Given the description of an element on the screen output the (x, y) to click on. 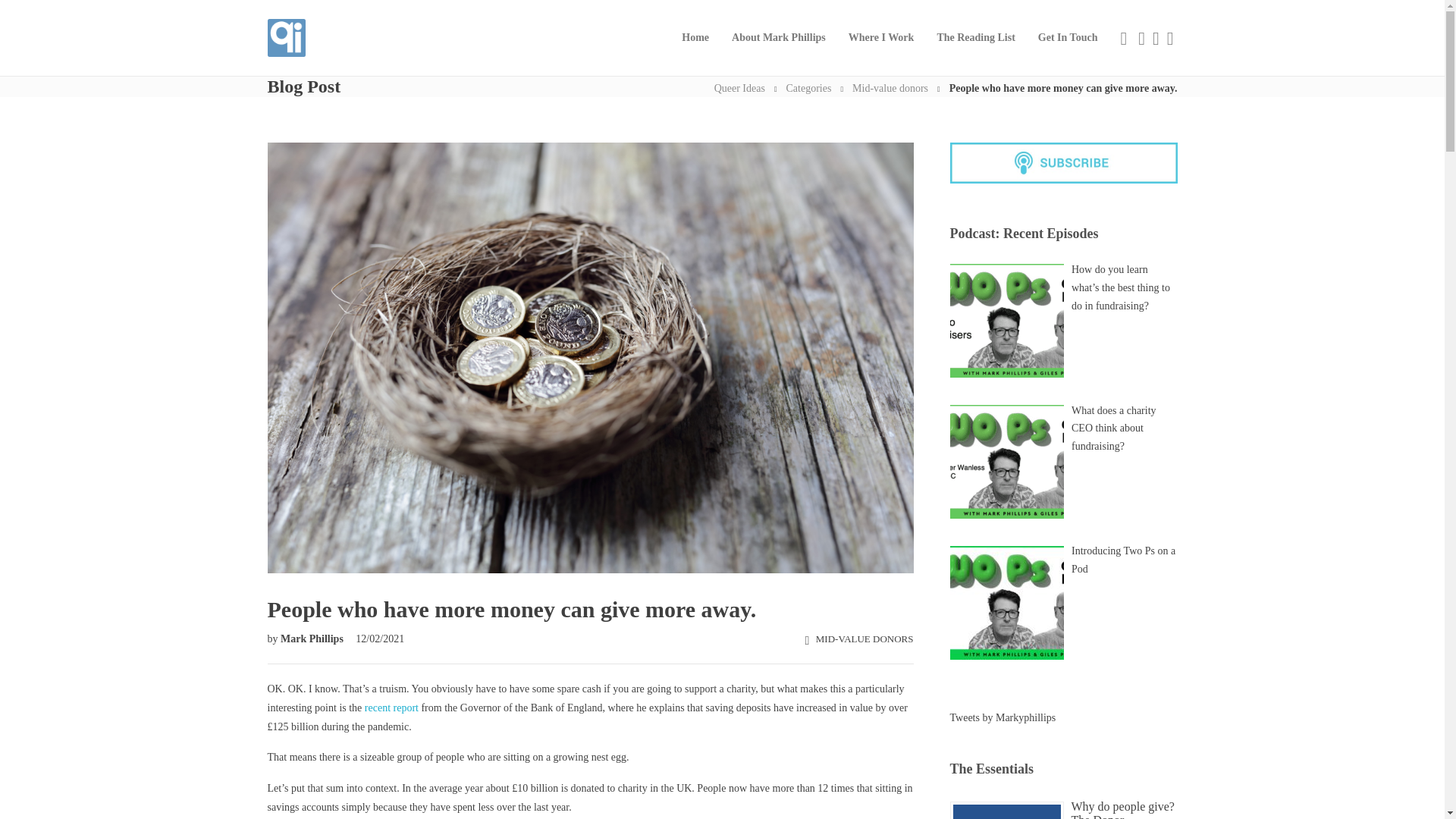
MID-VALUE DONORS (864, 638)
Mid-value donors (889, 88)
recent report (392, 707)
People who have more money can give more away. (1063, 88)
Queer Ideas (739, 88)
About Mark Phillips (778, 38)
queer ideas (739, 88)
Categories (808, 88)
People who have more money can give more away. (589, 603)
Mark Phillips (313, 638)
